Given the description of an element on the screen output the (x, y) to click on. 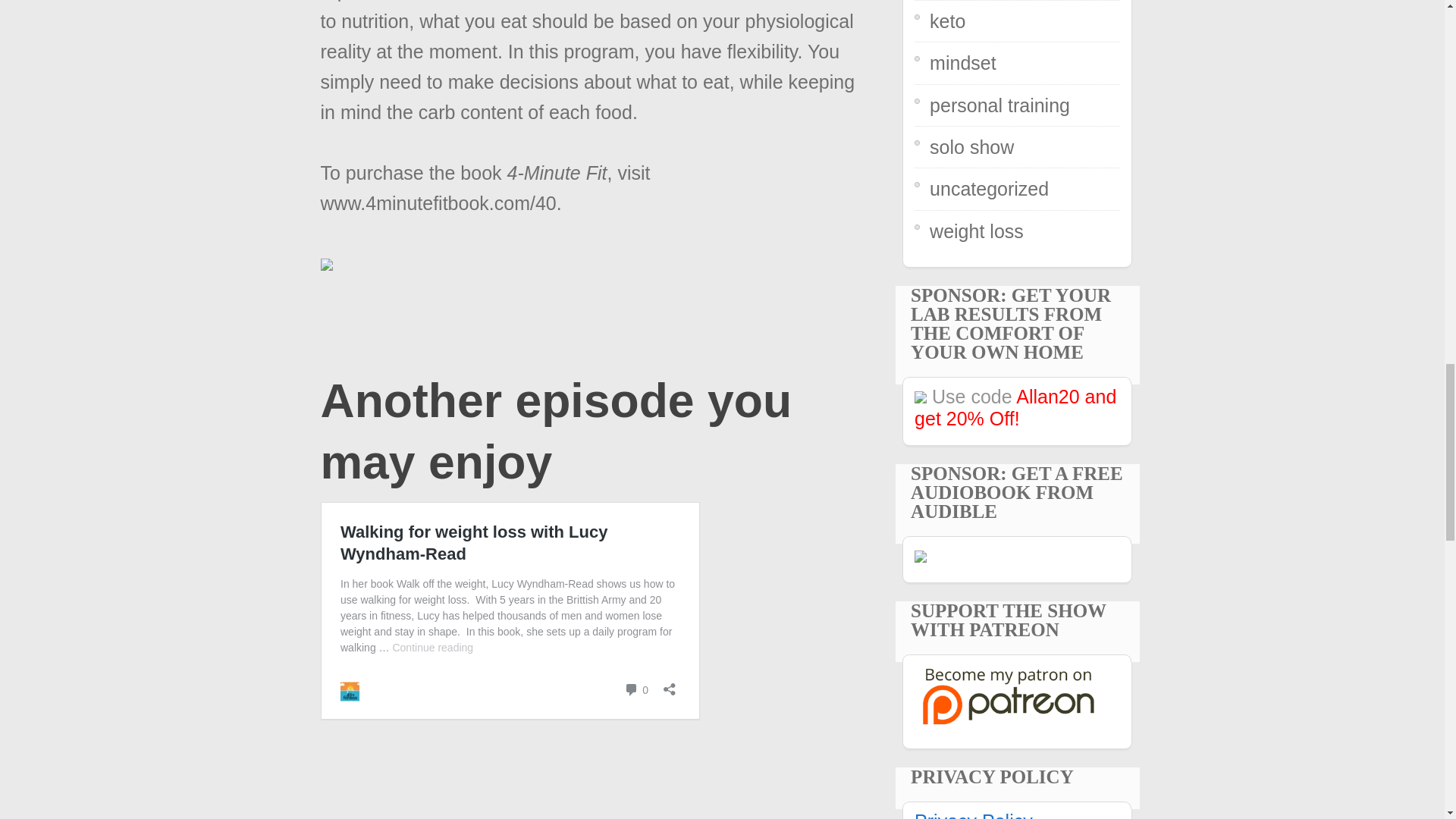
uncategorized (989, 188)
solo show (971, 147)
weight loss (976, 230)
personal training (1000, 105)
mindset (962, 62)
keto (947, 20)
